Given the description of an element on the screen output the (x, y) to click on. 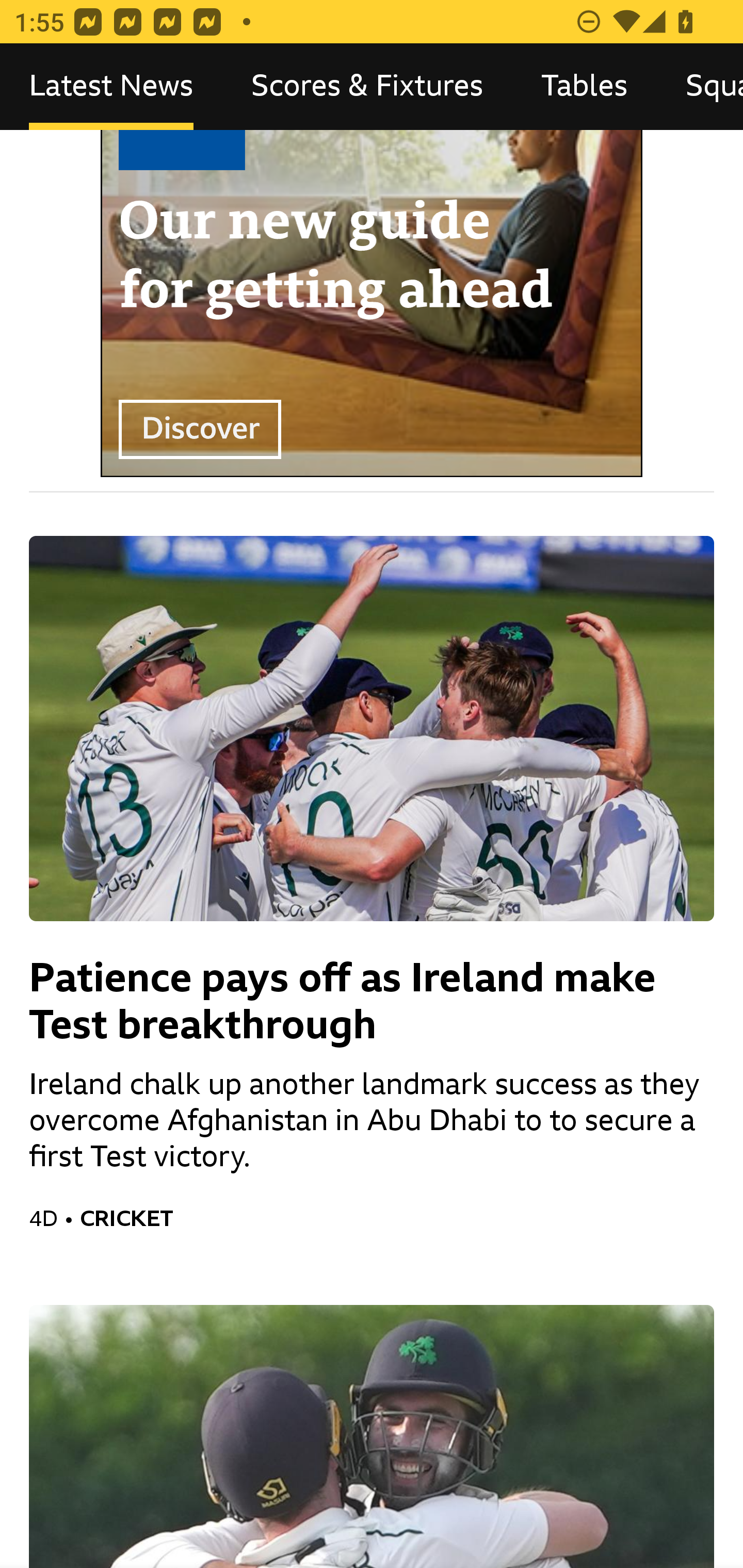
Latest News, selected Latest News (111, 86)
Scores & Fixtures (367, 86)
Tables (584, 86)
CRICKET In the section Cricket (397, 1218)
